Given the description of an element on the screen output the (x, y) to click on. 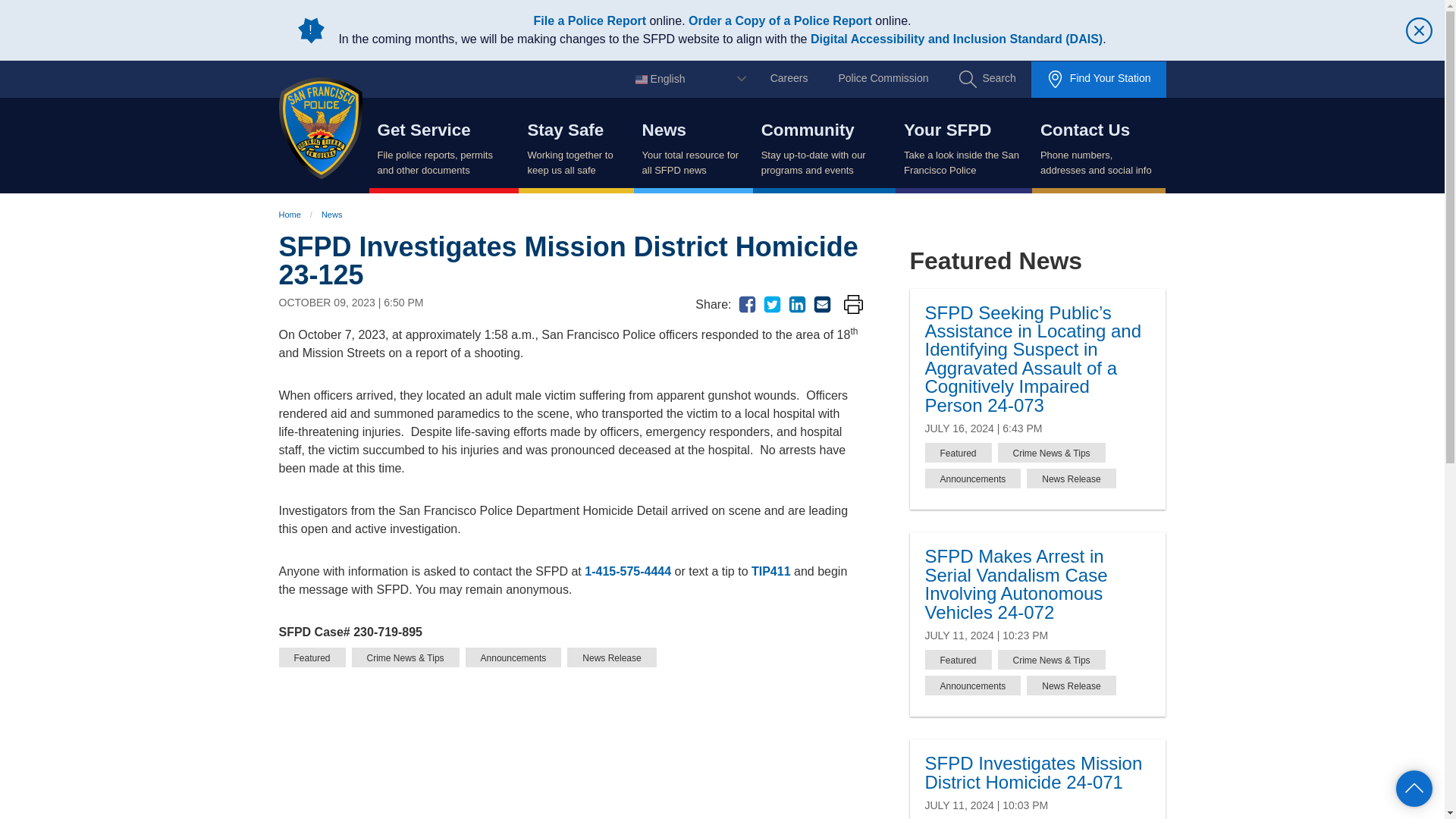
Home (329, 127)
English (693, 78)
File a Police Report (590, 20)
Order a Copy of a Police Report (780, 20)
